Given the description of an element on the screen output the (x, y) to click on. 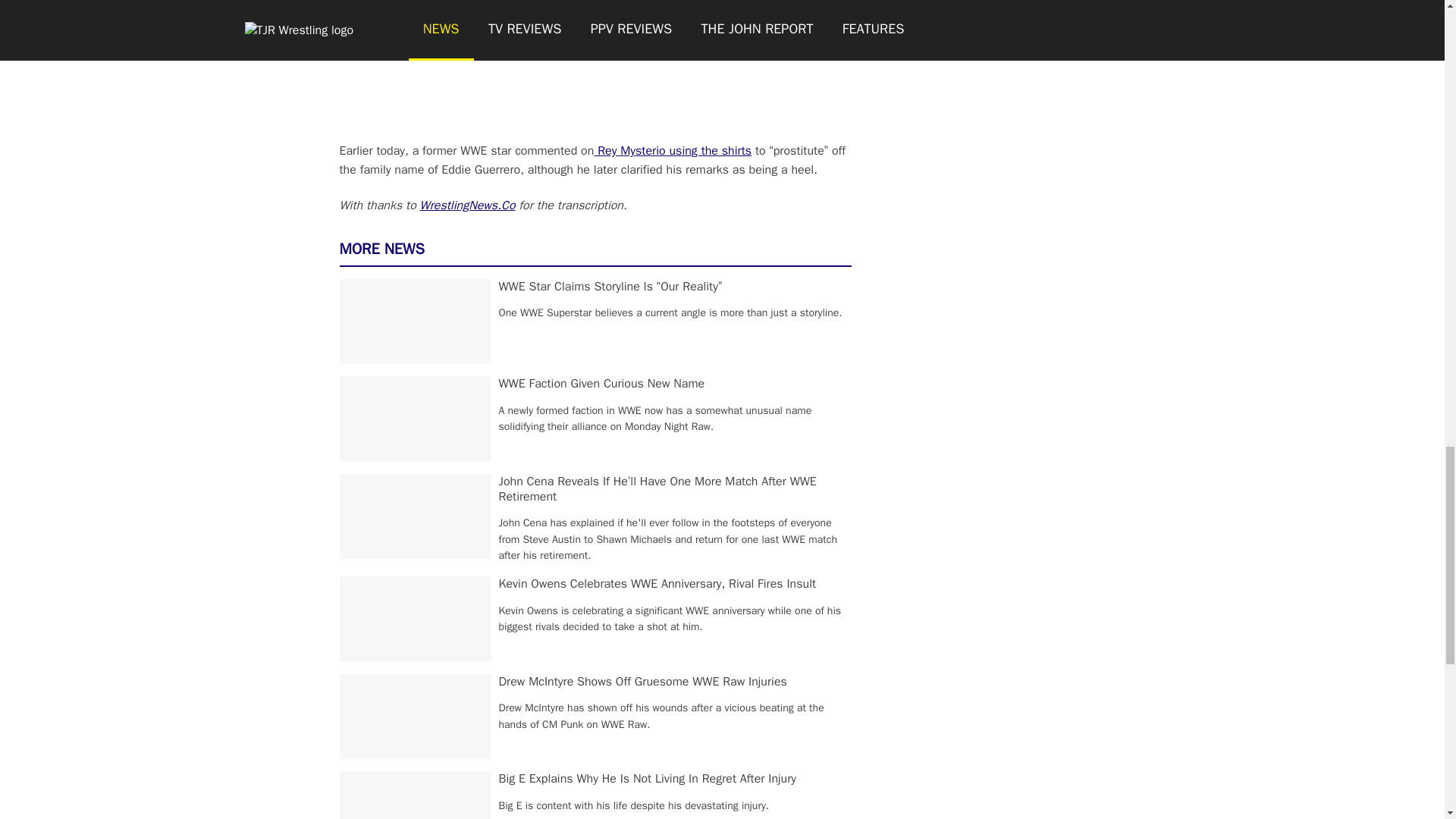
Drew McIntyre Shows Off Gruesome WWE Raw Injuries (643, 681)
Kevin Owens Celebrates WWE Anniversary, Rival Fires Insult (657, 583)
WrestlingNews.Co (467, 205)
Big E Explains Why He Is Not Living In Regret After Injury (647, 778)
Rey Mysterio using the shirts (672, 150)
WWE Faction Given Curious New Name (601, 383)
